Given the description of an element on the screen output the (x, y) to click on. 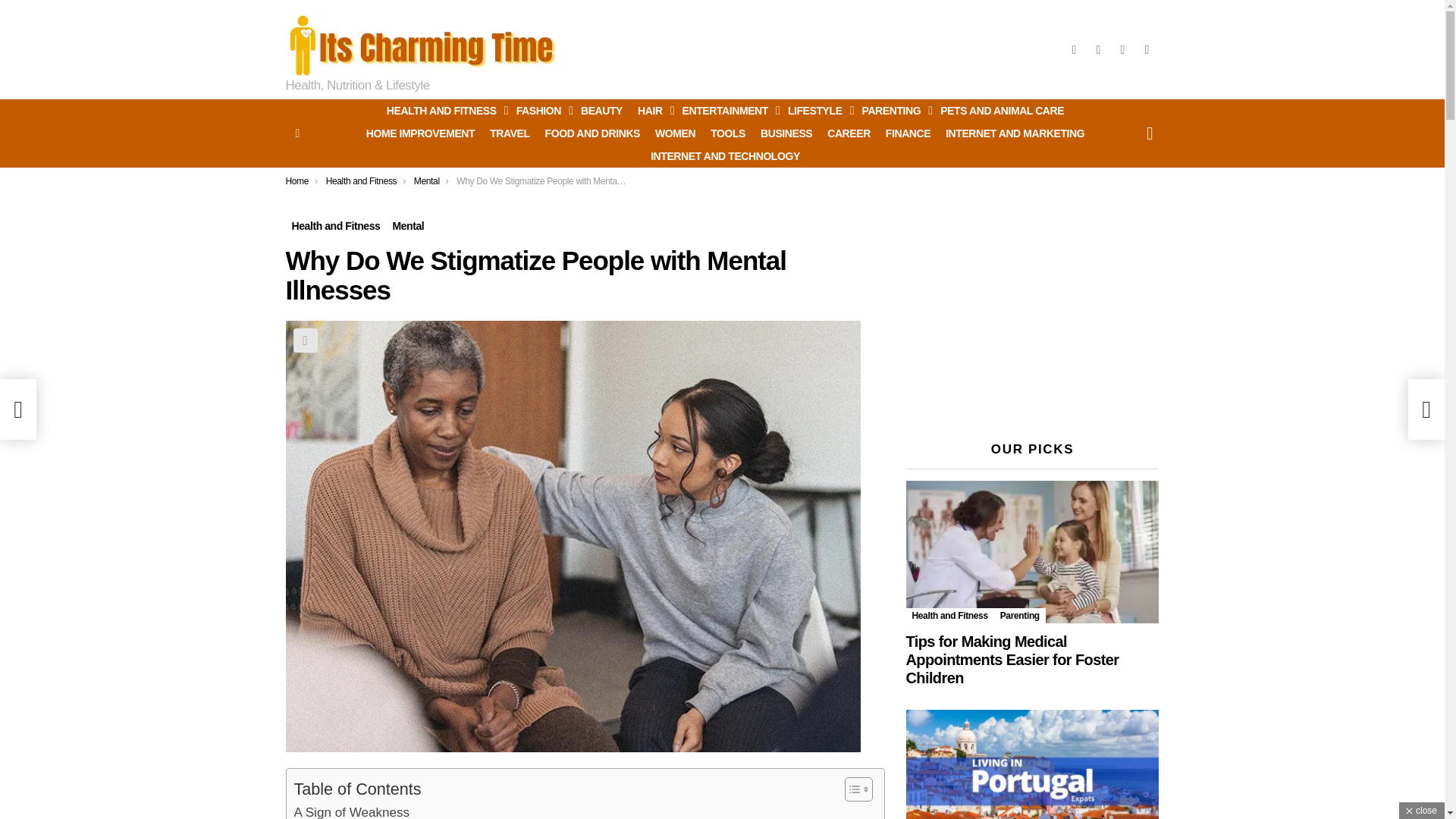
HEALTH AND FITNESS (443, 110)
tiktok (1146, 49)
A Sign of Weakness (352, 810)
FASHION (540, 110)
TRAVEL (509, 133)
BUSINESS (785, 133)
facebook (1073, 49)
ENTERTAINMENT (727, 110)
instagram (1097, 49)
BEAUTY (601, 110)
HOME IMPROVEMENT (419, 133)
PETS AND ANIMAL CARE (1002, 110)
Menu (296, 133)
pinterest (1121, 49)
FINANCE (907, 133)
